Given the description of an element on the screen output the (x, y) to click on. 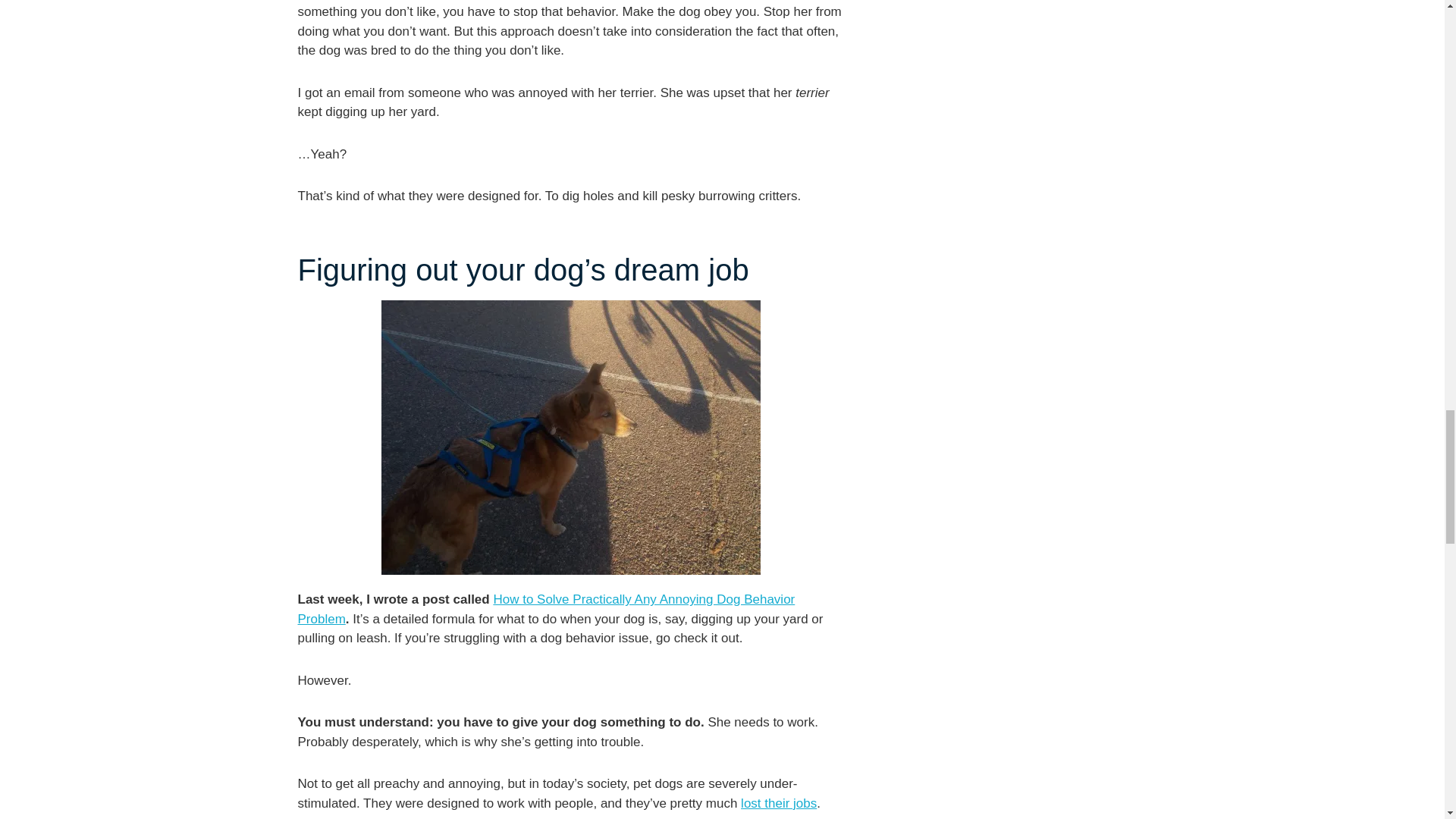
lost their jobs (778, 803)
How to Solve Practically Any Annoying Dog Behavior Problem (545, 609)
